Given the description of an element on the screen output the (x, y) to click on. 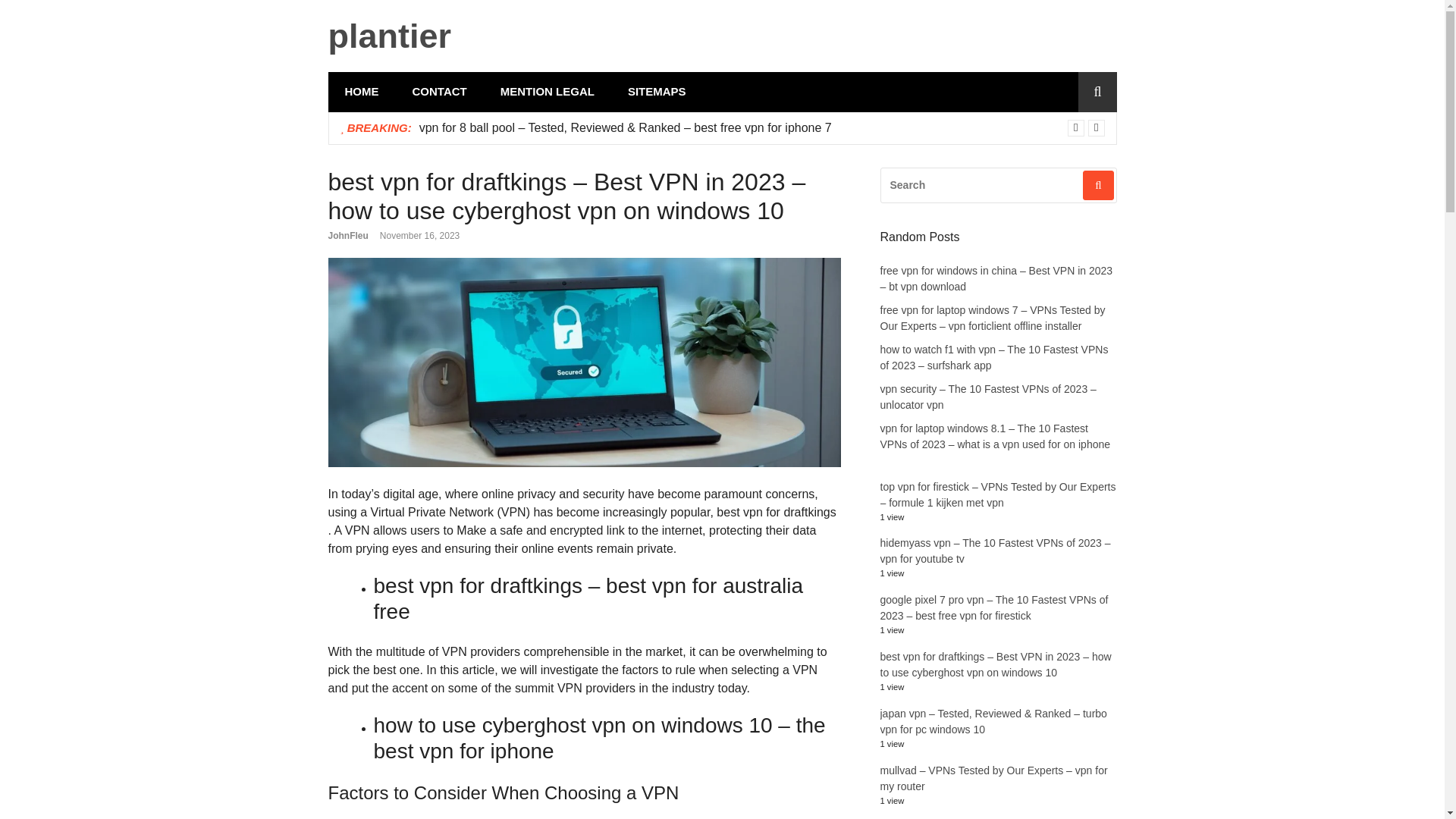
HOME (360, 92)
MENTION LEGAL (547, 92)
JohnFleu (347, 235)
SITEMAPS (657, 92)
plantier (389, 35)
CONTACT (439, 92)
